Given the description of an element on the screen output the (x, y) to click on. 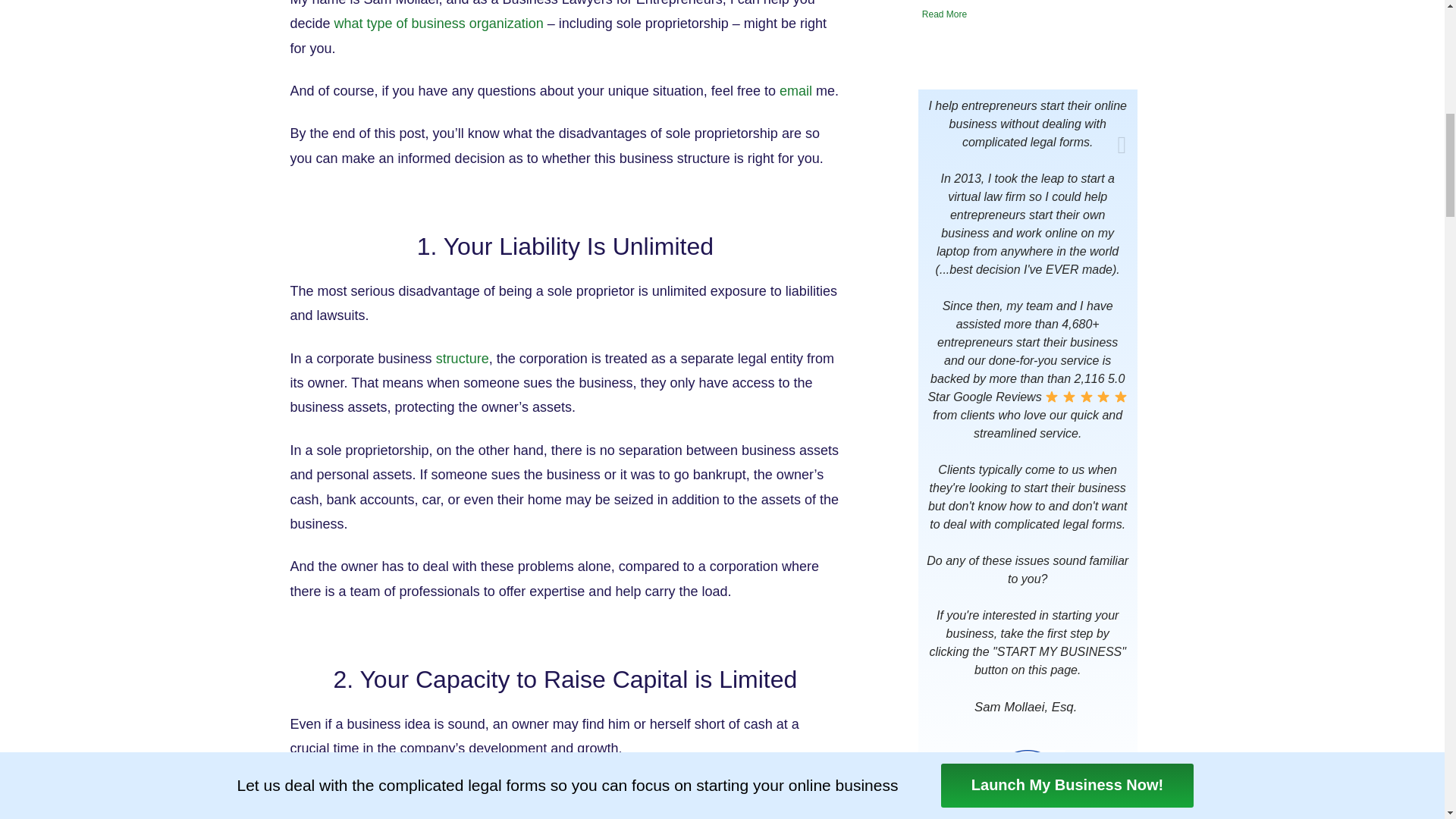
structure (462, 358)
partners (365, 791)
what type of business organization (438, 23)
email (795, 90)
Read More (1032, 14)
